Given the description of an element on the screen output the (x, y) to click on. 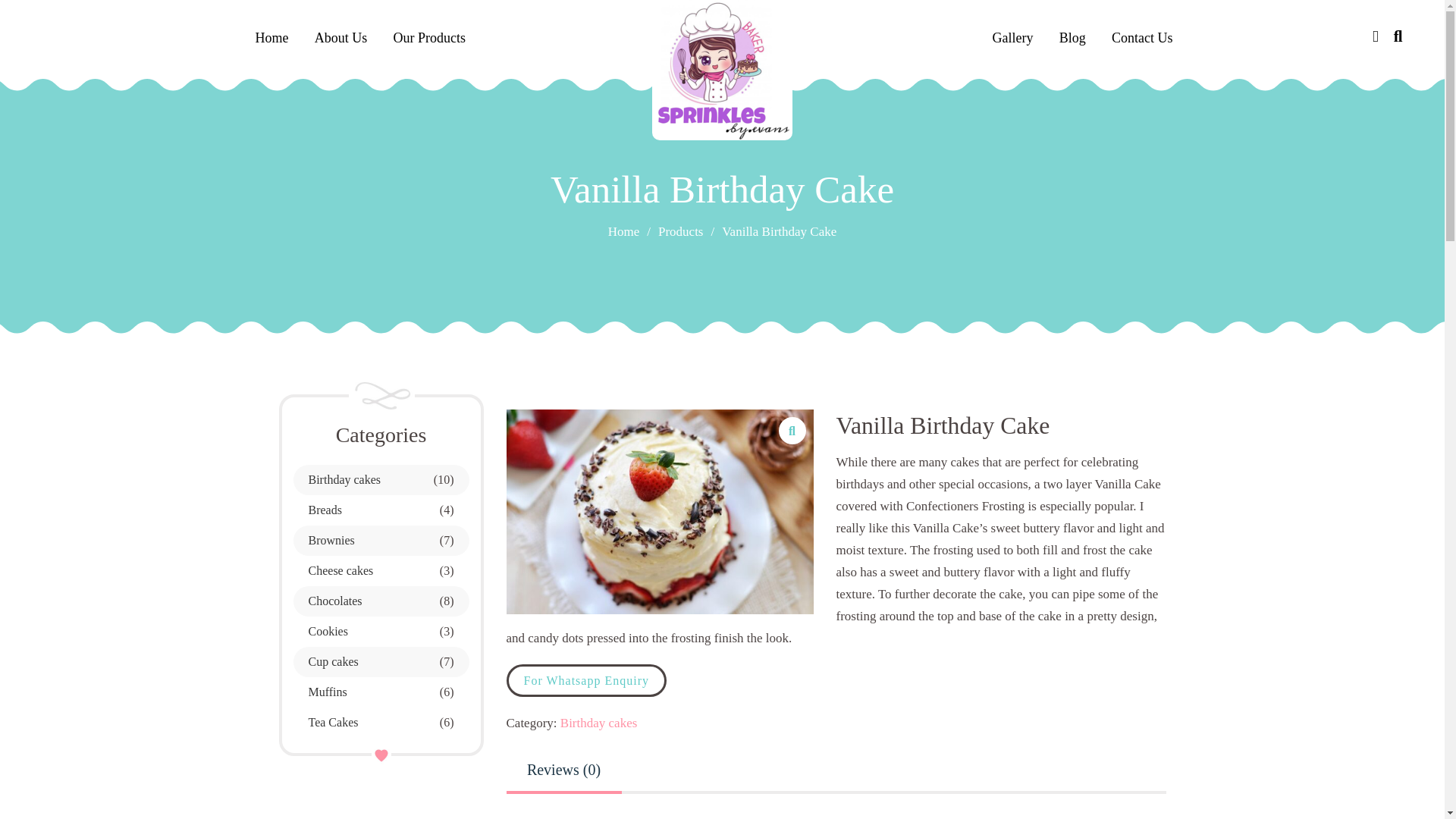
Our Products (429, 37)
Gallery (1013, 37)
Blog (1072, 37)
Home (271, 37)
Contact Us (1142, 37)
View your shopping cart (1375, 36)
About Us (340, 37)
1 Vanilla cake (659, 511)
